Given the description of an element on the screen output the (x, y) to click on. 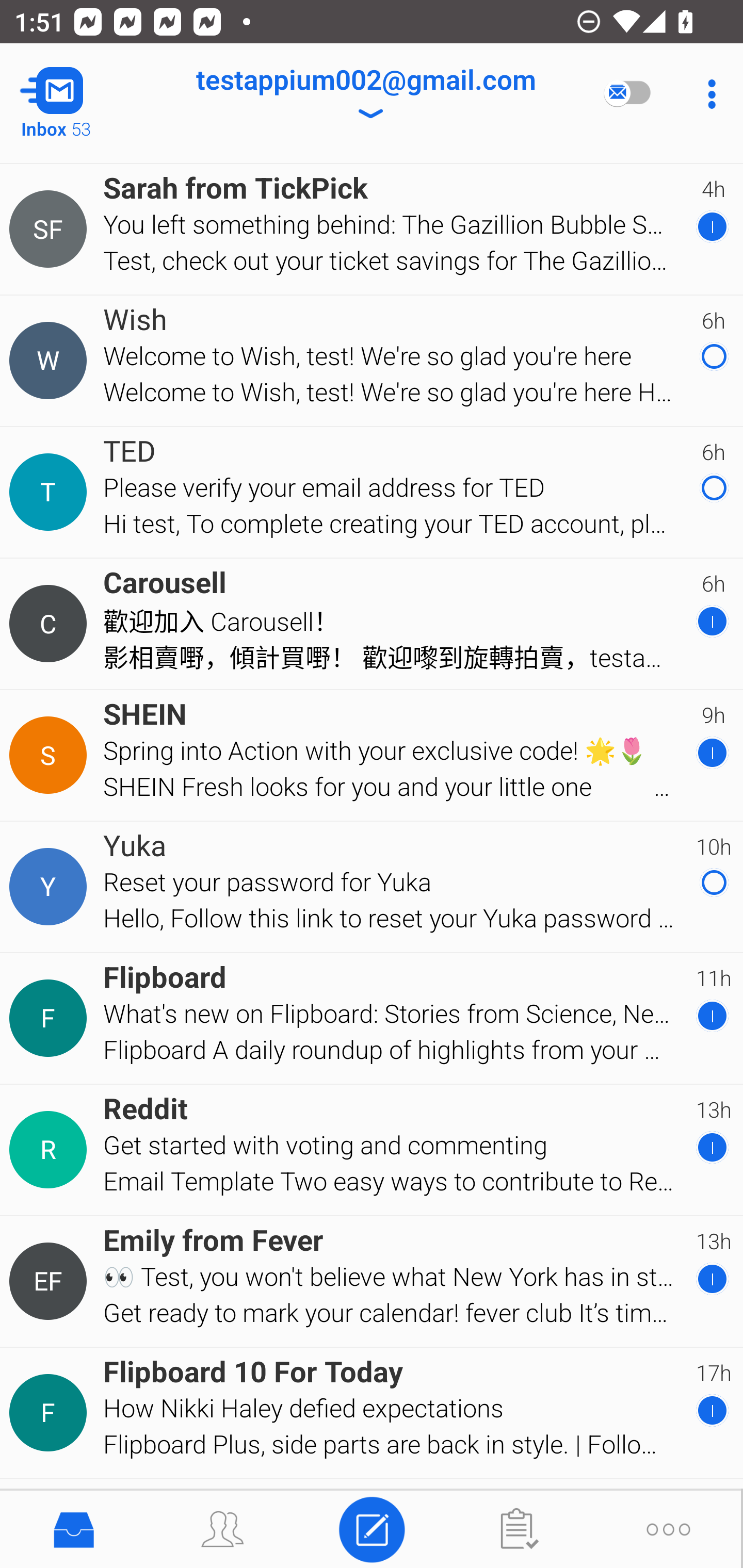
Navigate up (81, 93)
testappium002@gmail.com (365, 93)
More Options (706, 93)
Contact Details (50, 229)
Contact Details (50, 360)
Contact Details (50, 492)
Contact Details (50, 623)
Contact Details (50, 754)
Contact Details (50, 886)
Contact Details (50, 1018)
Contact Details (50, 1150)
Contact Details (50, 1281)
Contact Details (50, 1413)
